Given the description of an element on the screen output the (x, y) to click on. 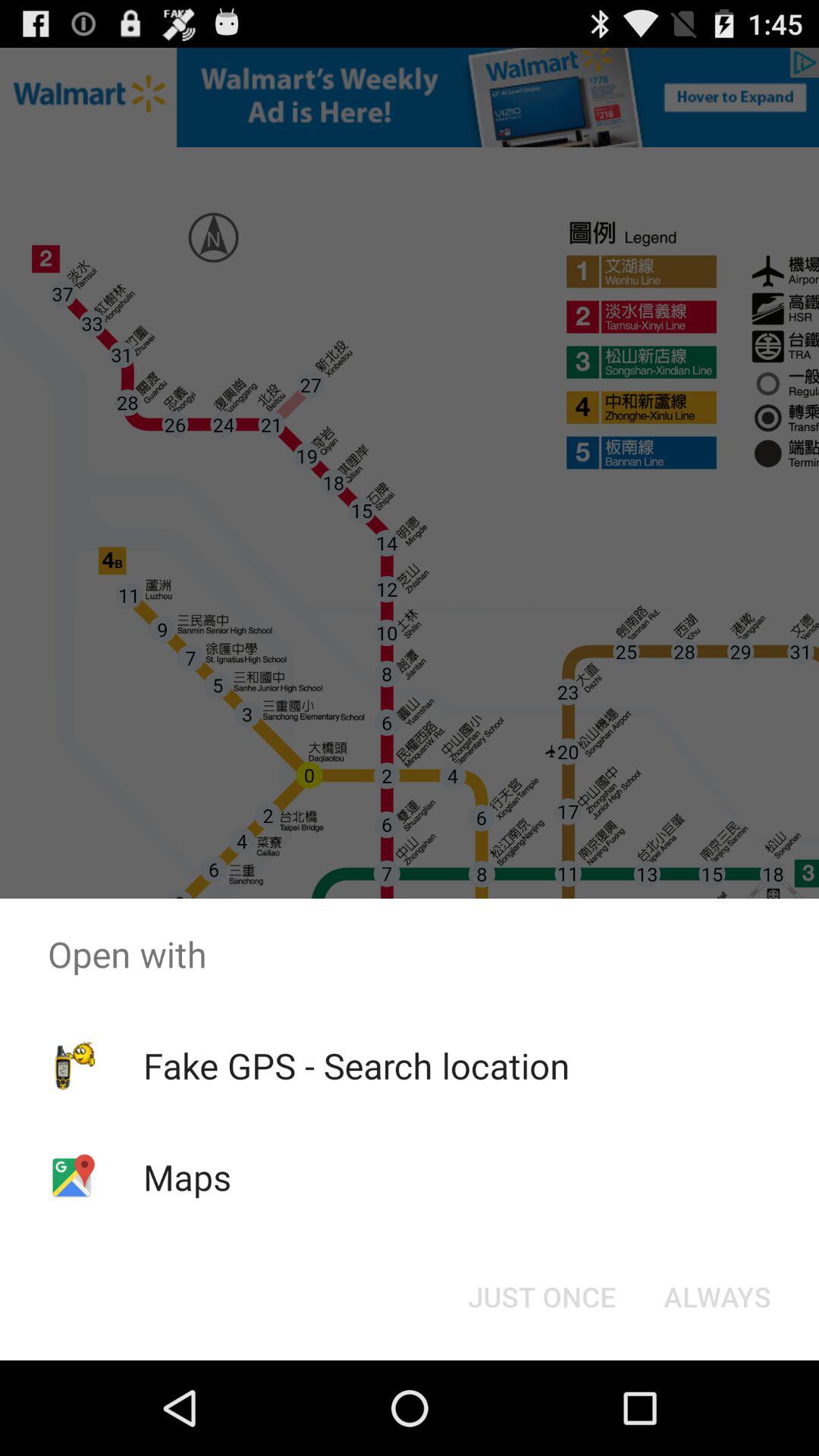
select the app below fake gps search (187, 1176)
